Given the description of an element on the screen output the (x, y) to click on. 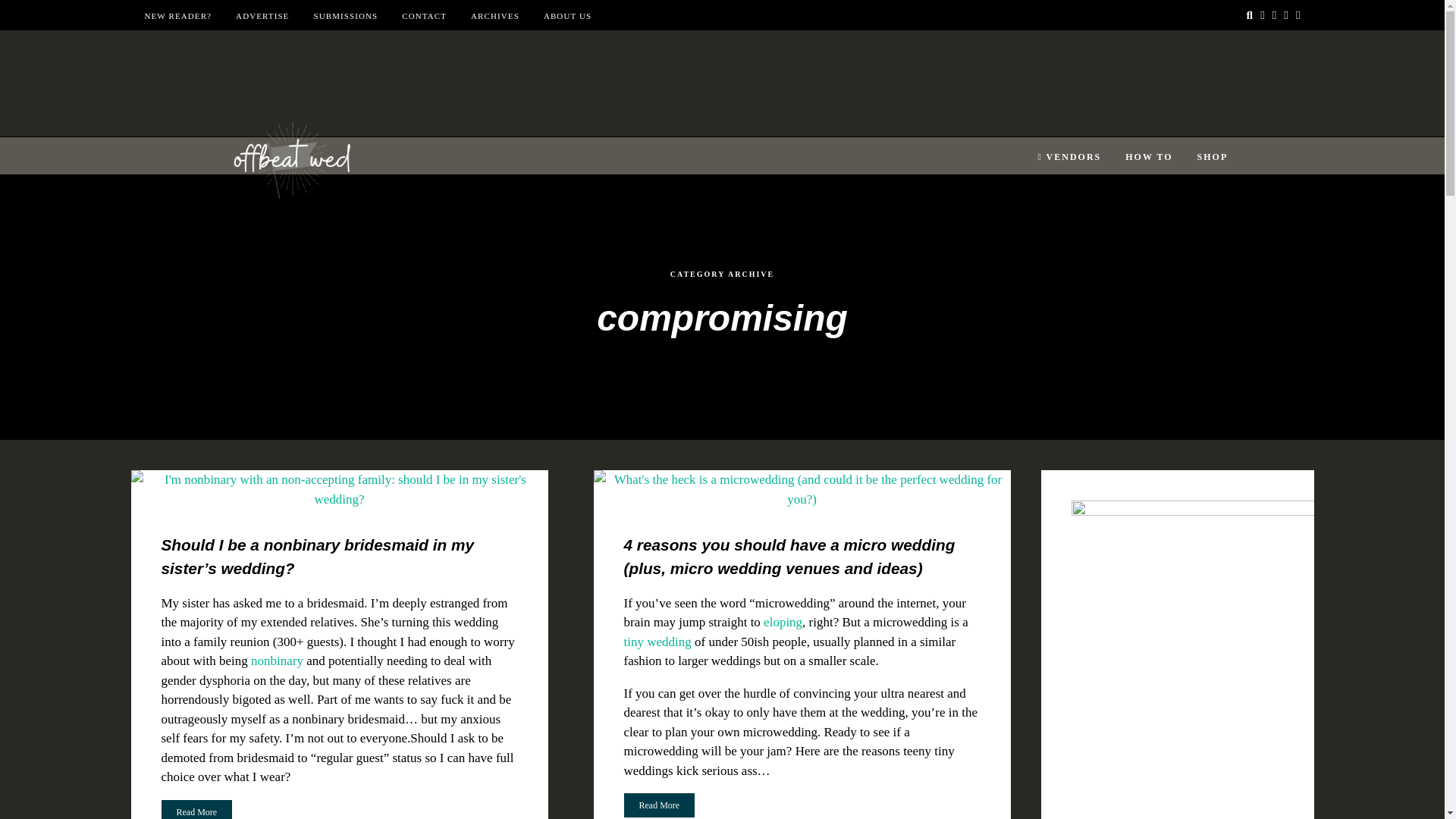
eloping (782, 622)
HOW TO (1148, 157)
ADVERTISE (261, 15)
nonbinary (276, 660)
NEW READER? (177, 15)
ABOUT US (567, 15)
CONTACT (423, 15)
Read More (658, 803)
Read More (658, 805)
SUBMISSIONS (345, 15)
